Given the description of an element on the screen output the (x, y) to click on. 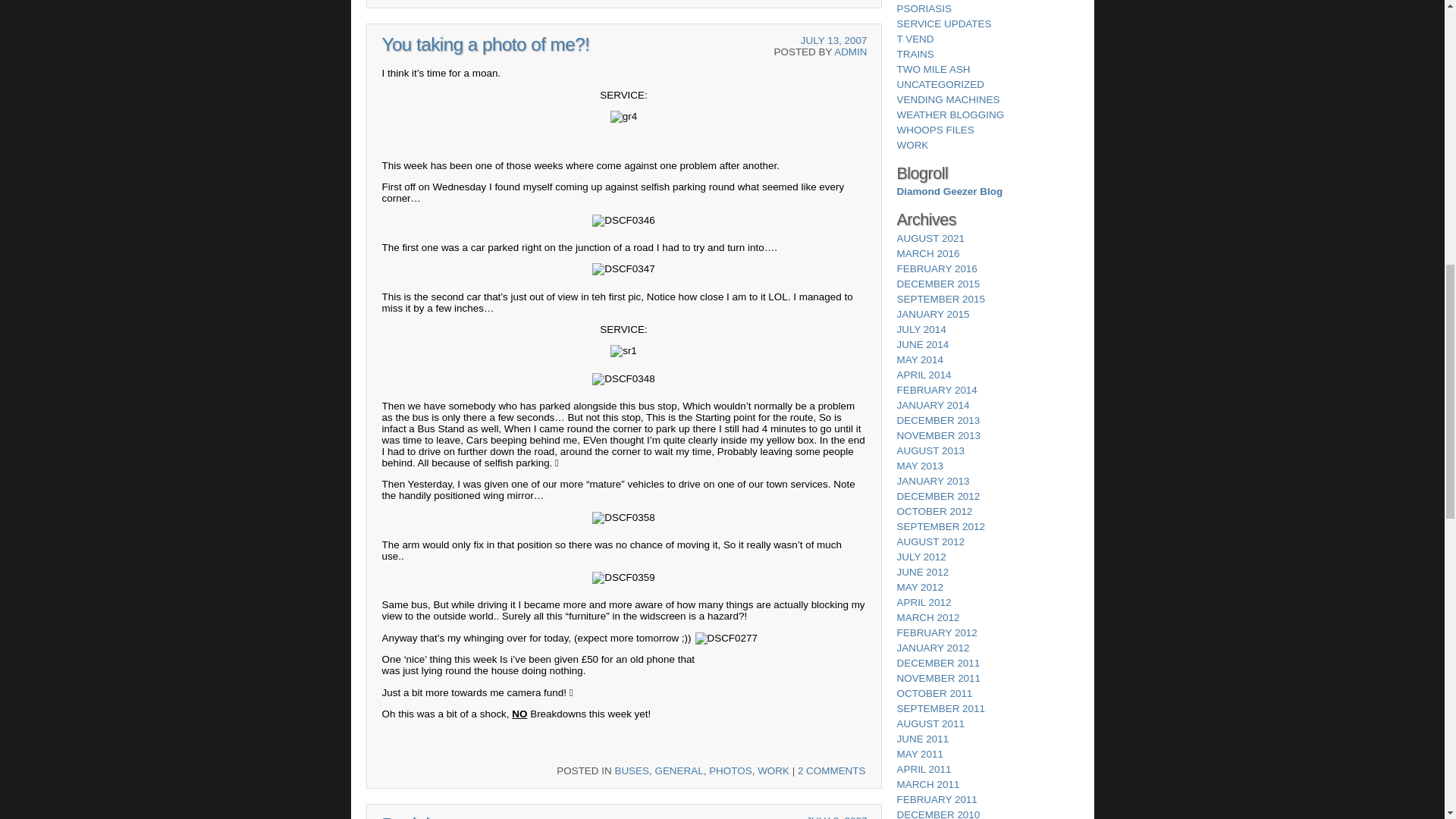
GENERAL (678, 770)
You taking a photo of me?! (485, 44)
JULY 8, 2007 (836, 816)
Permalink to Back home (425, 816)
2 COMMENTS (831, 770)
Back home (425, 816)
View all posts by admin (850, 51)
ADMIN (850, 51)
PHOTOS (730, 770)
JULY 13, 2007 (833, 40)
